Given the description of an element on the screen output the (x, y) to click on. 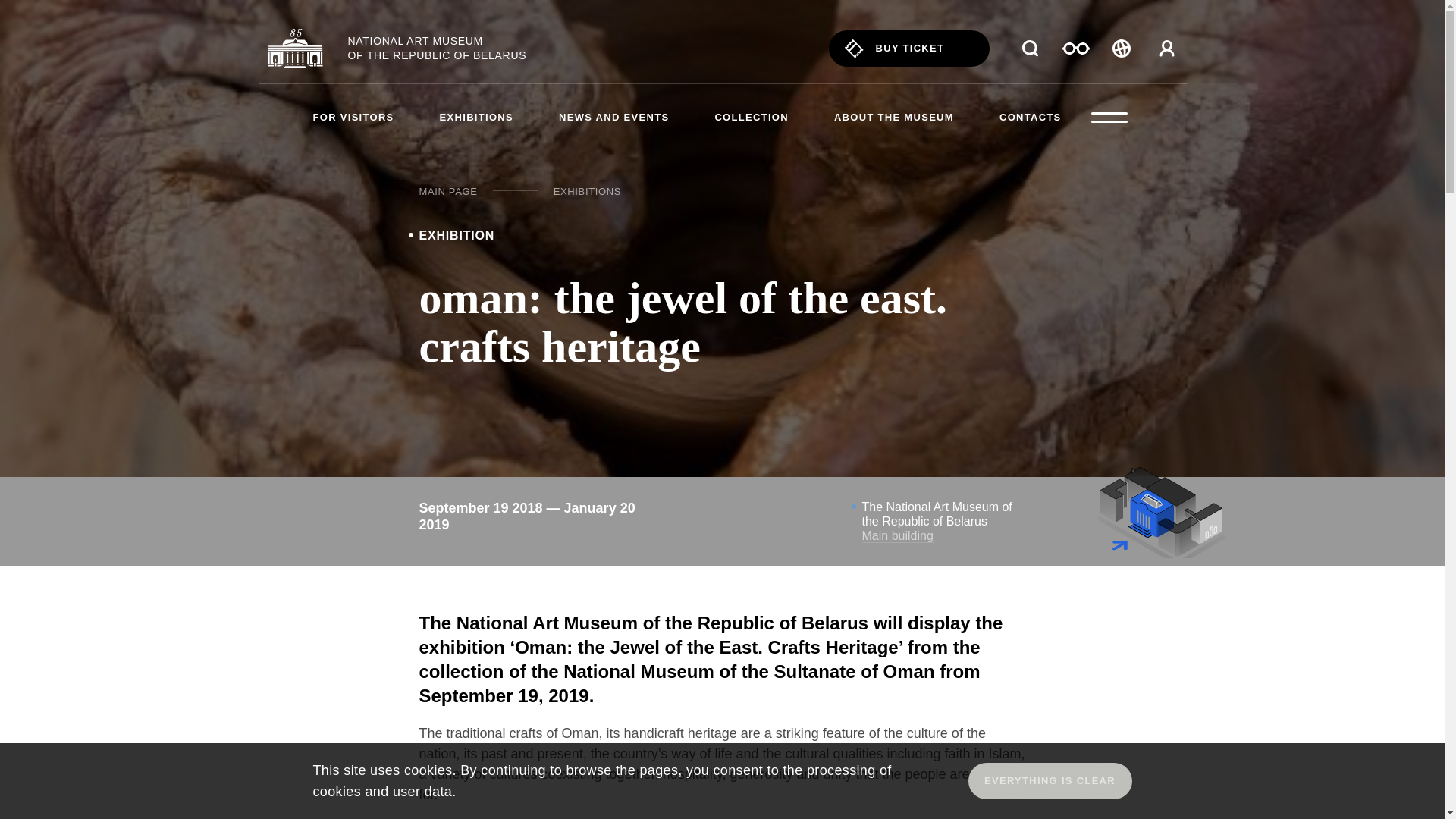
EXHIBITIONS (476, 116)
COLLECTION (751, 116)
ABOUT THE MUSEUM (893, 116)
EXHIBITIONS (587, 191)
FOR VISITORS (353, 116)
NEWS AND EVENTS (613, 116)
cookies (428, 771)
CONTACTS (1029, 116)
EVERYTHING IS CLEAR (1049, 780)
BUY TICKET (908, 48)
